Given the description of an element on the screen output the (x, y) to click on. 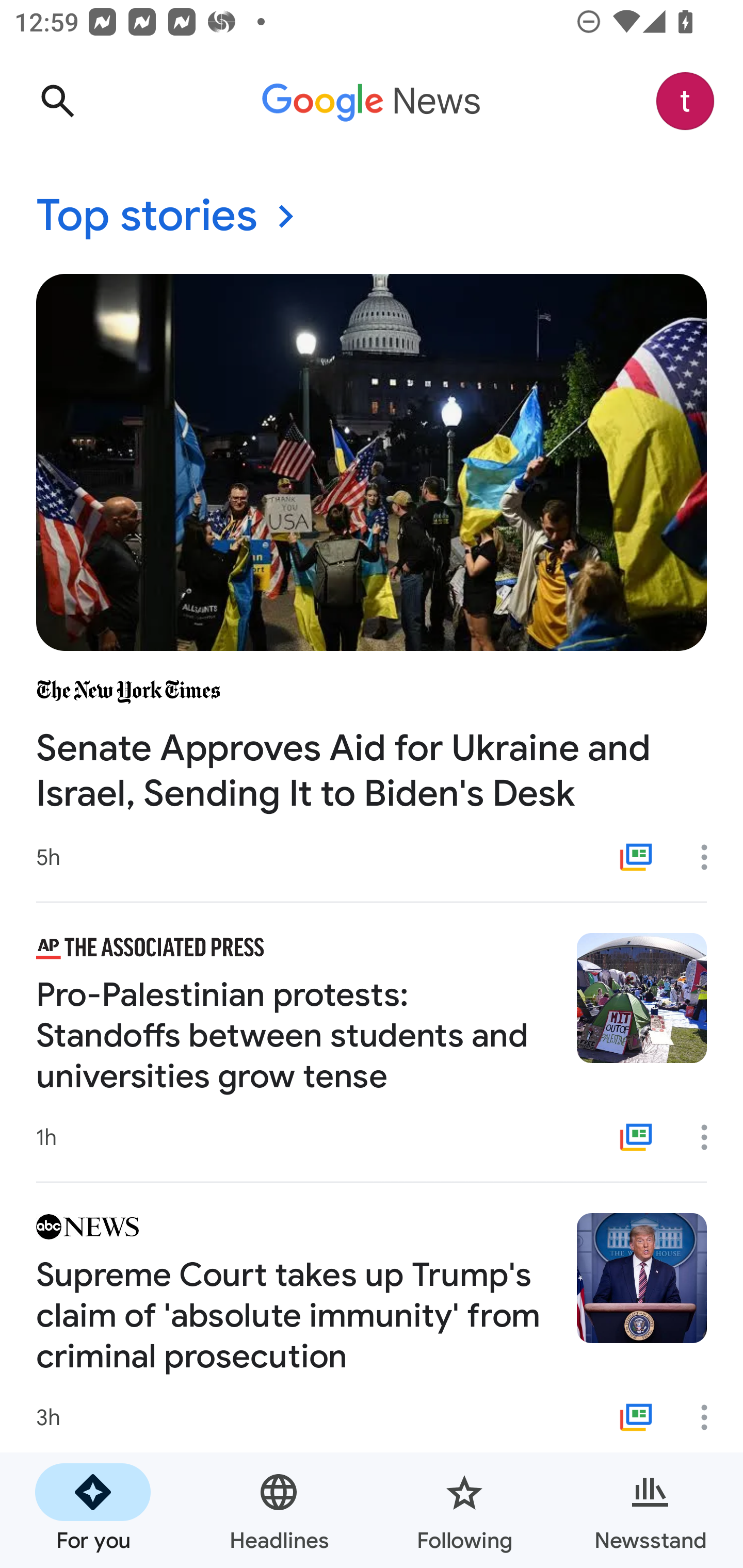
Search (57, 100)
Top stories (371, 216)
More options (711, 856)
More options (711, 1137)
More options (711, 1417)
For you (92, 1509)
Headlines (278, 1509)
Following (464, 1509)
Newsstand (650, 1509)
